Given the description of an element on the screen output the (x, y) to click on. 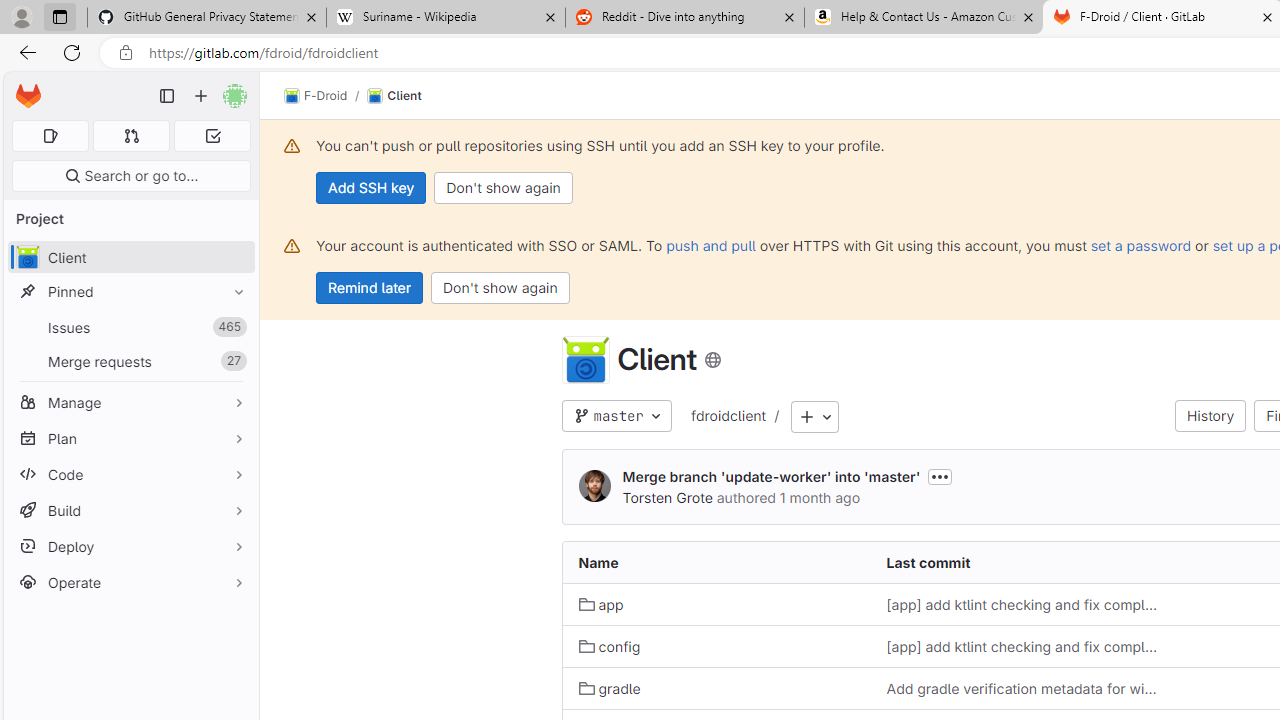
Add to tree (815, 417)
To-Do list 0 (212, 136)
Merge requests 0 (131, 136)
Class: s16 icon (712, 359)
avatar (27, 257)
Primary navigation sidebar (167, 96)
app (715, 604)
Deploy (130, 546)
Plan (130, 438)
Client (394, 96)
Issues465 (130, 327)
Code (130, 474)
